Given the description of an element on the screen output the (x, y) to click on. 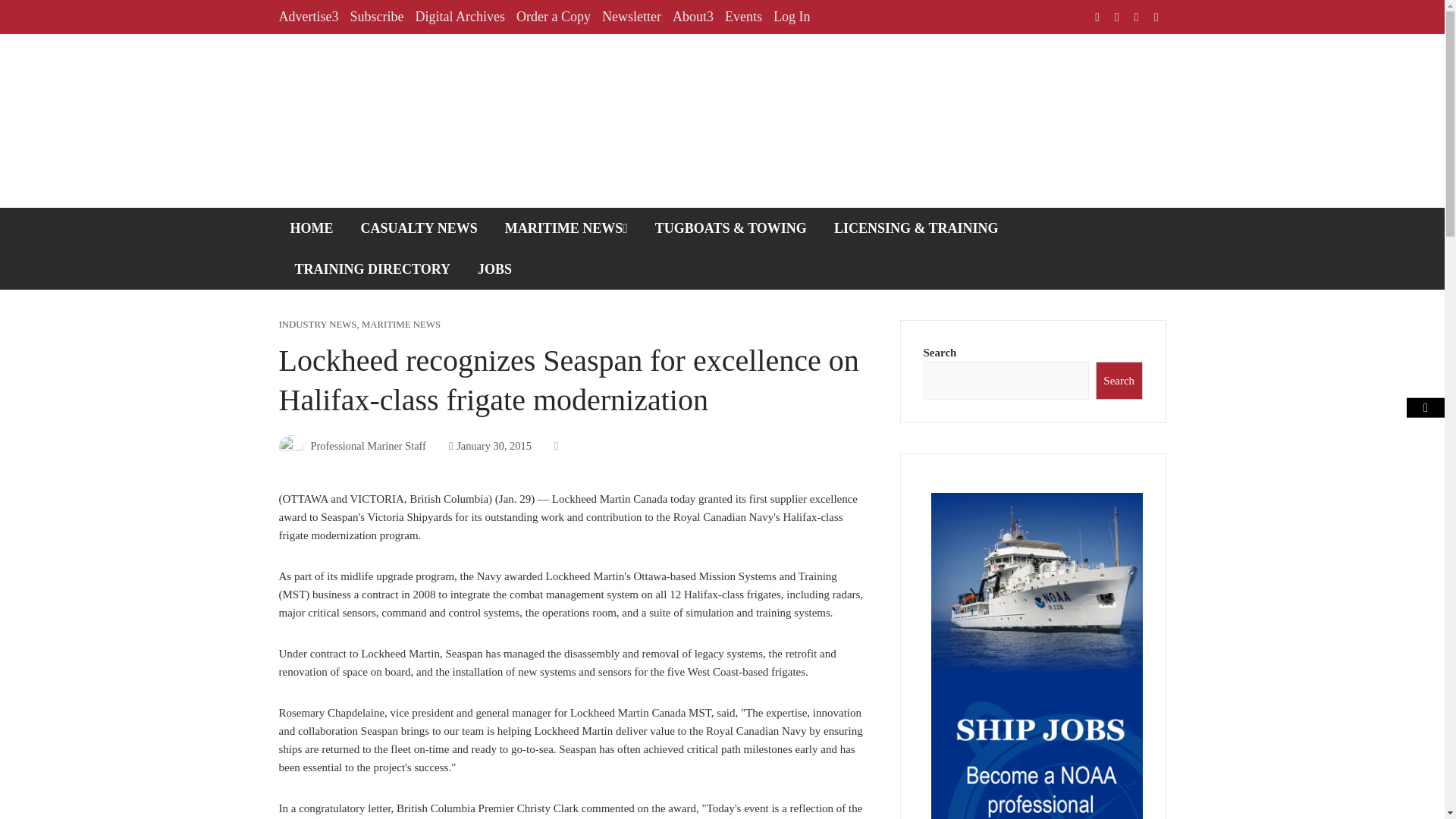
CASUALTY NEWS (418, 228)
Digital Archives (458, 17)
Events (743, 17)
TRAINING DIRECTORY (373, 268)
MARITIME NEWS (401, 325)
MARITIME NEWS (566, 228)
Order a Copy (553, 17)
HOME (312, 228)
JOBS (493, 268)
Newsletter (631, 17)
INDUSTRY NEWS (317, 325)
Log In (791, 17)
About (692, 17)
Subscribe (376, 17)
Advertise (309, 17)
